Given the description of an element on the screen output the (x, y) to click on. 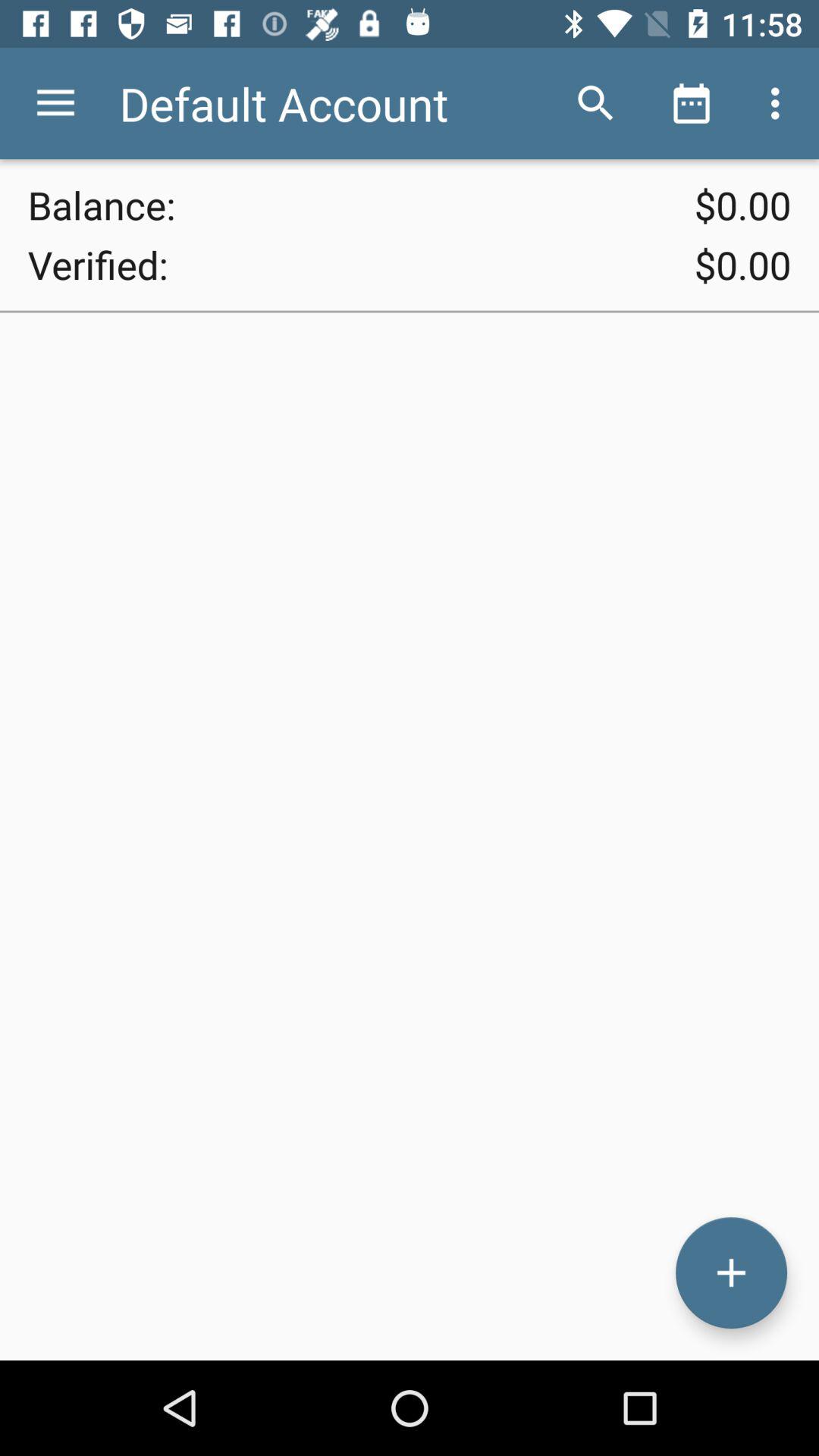
add a new account (731, 1272)
